Given the description of an element on the screen output the (x, y) to click on. 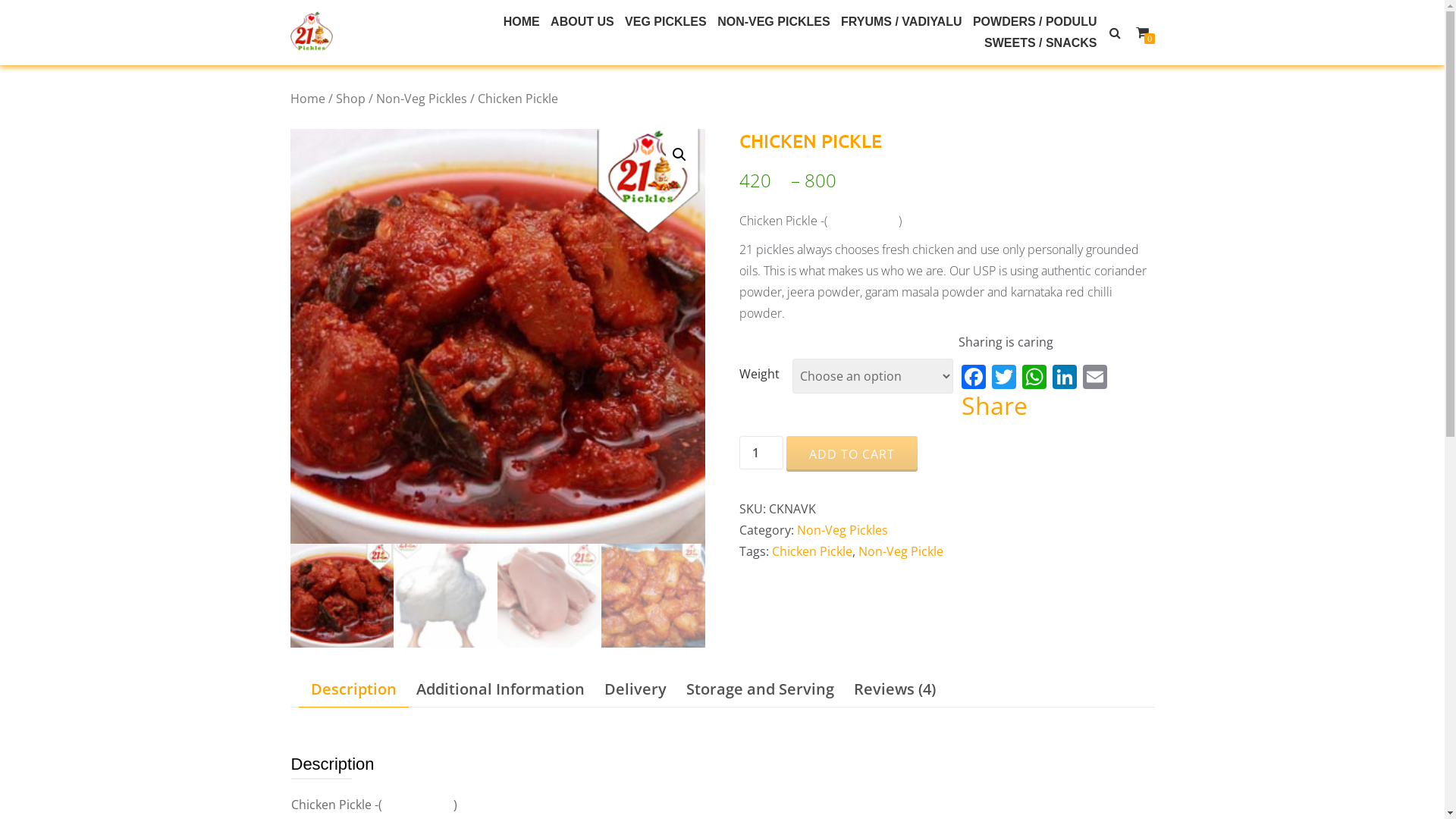
Description Element type: text (353, 688)
Non-Veg Pickle Element type: text (900, 550)
Home Element type: text (306, 98)
Facebook Element type: text (973, 378)
LinkedIn Element type: text (1064, 378)
WhatsApp Element type: text (1034, 378)
VEG PICKLES Element type: text (665, 21)
Home Element type: hover (495, 21)
Storage and Serving Element type: text (759, 688)
ADD TO CART Element type: text (851, 454)
FRYUMS / VADIYALU Element type: text (901, 21)
Qty Element type: hover (761, 452)
Additional Information Element type: text (499, 688)
Shop Element type: text (349, 98)
Delivery Element type: text (634, 688)
chicken-boneless1 Element type: hover (496, 335)
Reviews (4) Element type: text (894, 688)
21Pickles.com Element type: hover (313, 32)
0 Element type: text (1141, 32)
Non-Veg Pickles Element type: text (421, 98)
HOME Element type: text (521, 21)
POWDERS / PODULU Element type: text (1035, 21)
Twitter Element type: text (1003, 378)
NON-VEG PICKLES Element type: text (773, 21)
SWEETS / SNACKS Element type: text (1040, 42)
Non-Veg Pickles Element type: text (842, 529)
Chicken Pickle Element type: text (811, 550)
Share Element type: text (994, 405)
Email Element type: text (1094, 378)
ABOUT US Element type: text (582, 21)
